Given the description of an element on the screen output the (x, y) to click on. 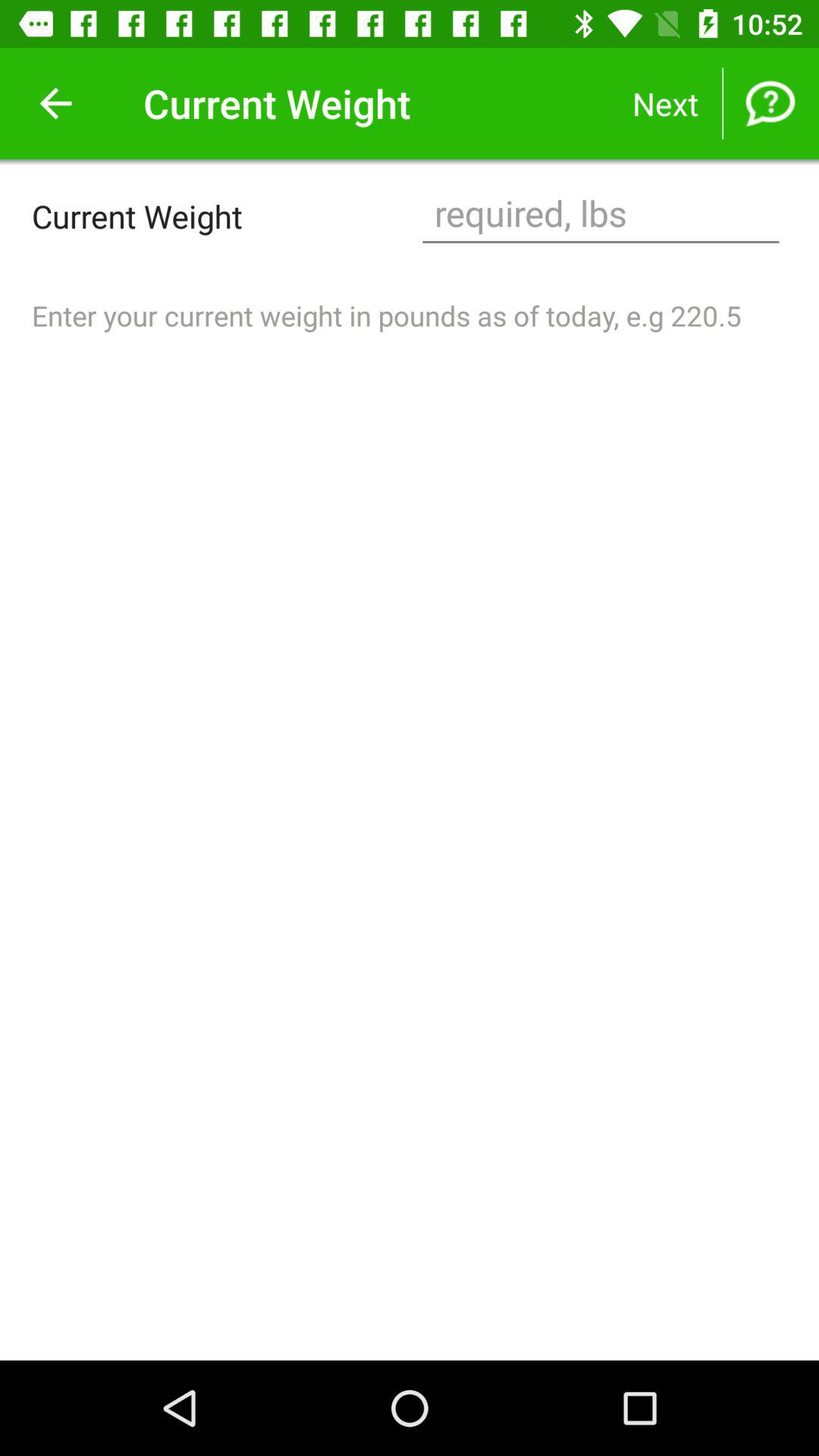
tap icon next to the current weight (600, 215)
